Given the description of an element on the screen output the (x, y) to click on. 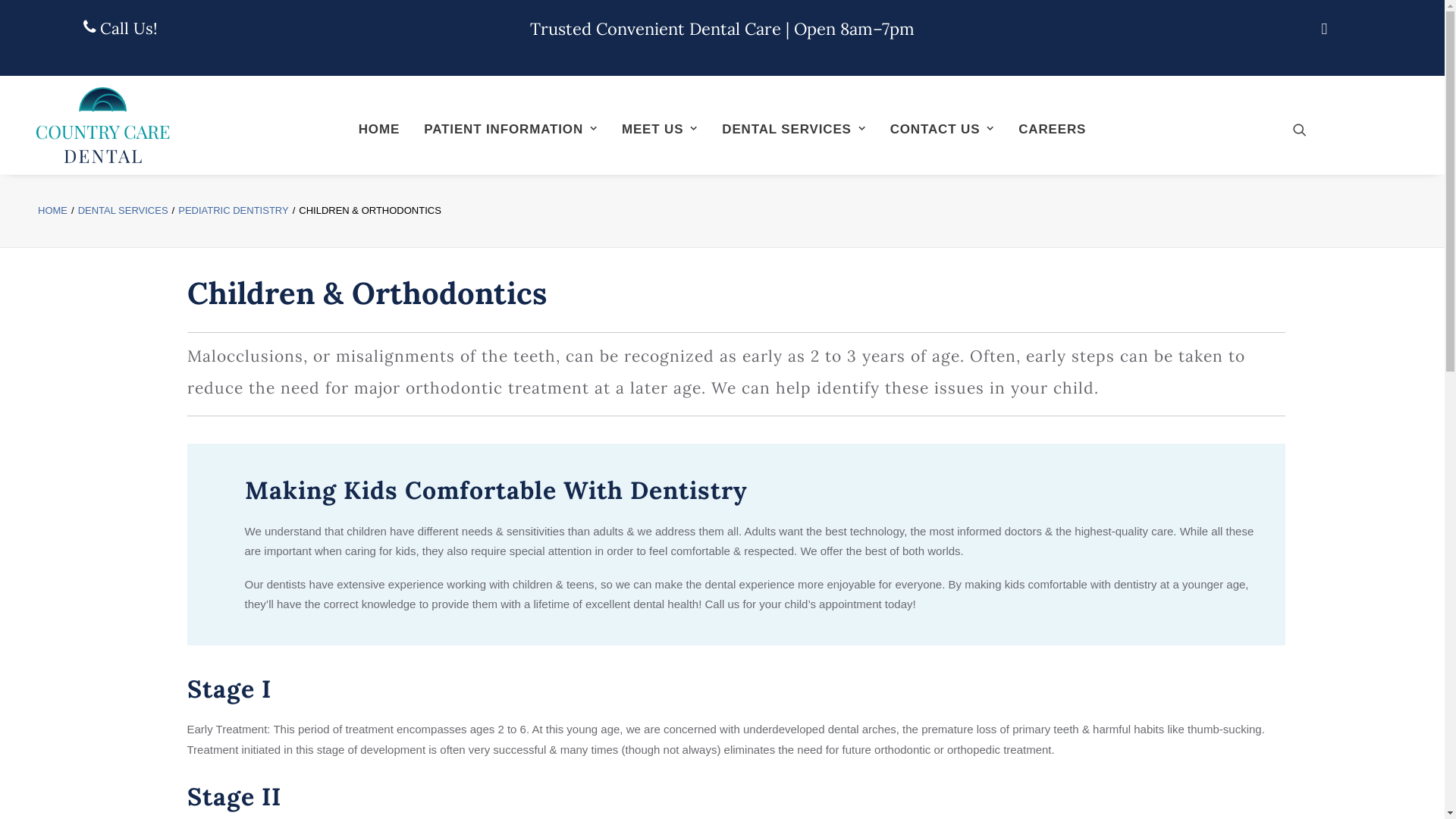
DENTAL SERVICES Element type: text (793, 128)
PEDIATRIC DENTISTRY Element type: text (233, 210)
PATIENT INFORMATION Element type: text (510, 128)
DENTAL SERVICES Element type: text (123, 210)
CONTACT US Element type: text (941, 128)
 Call Us! Element type: text (120, 28)
CAREERS Element type: text (1051, 128)
HOME Element type: text (52, 210)
MEET US Element type: text (659, 128)
HOME Element type: text (379, 128)
